Given the description of an element on the screen output the (x, y) to click on. 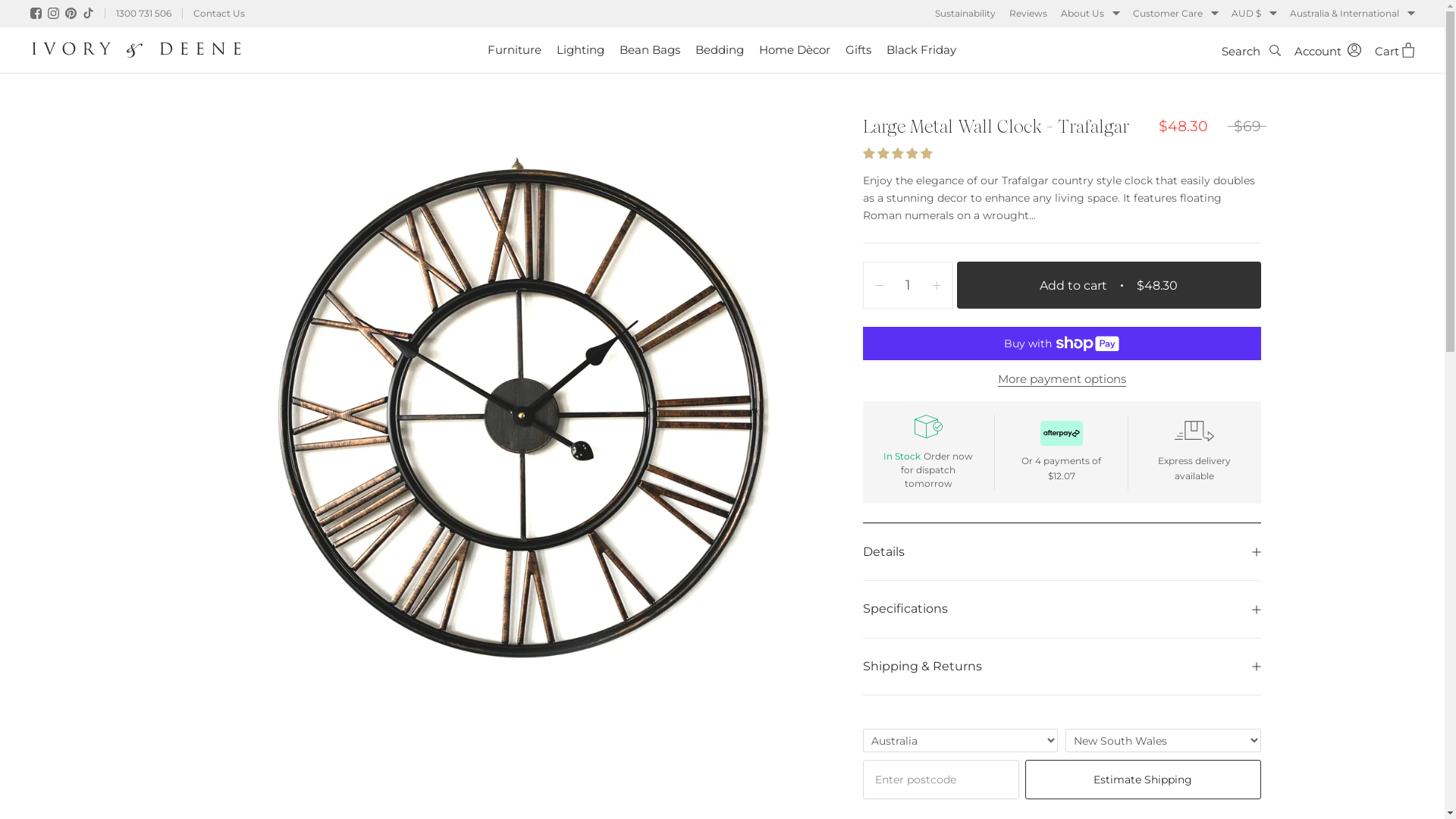
About Us Element type: text (1089, 13)
Black Friday Element type: text (921, 49)
Account Element type: text (1327, 49)
Furniture
Furniture Element type: text (514, 49)
Shipping & Returns Element type: text (1061, 666)
Lighting
Lighting Element type: text (580, 49)
More payment options Element type: text (1061, 378)
Sustainability Element type: text (965, 12)
Or 4 payments of $12.07 Element type: text (1060, 451)
Gifts Element type: text (858, 49)
Bean Bags
Bean Bags Element type: text (649, 49)
Specifications Element type: text (1061, 608)
Reviews Element type: text (1028, 12)
Search Element type: text (1250, 49)
Customer Care Element type: text (1174, 13)
AUD Element type: text (1262, 53)
Estimate Shipping Element type: text (1142, 779)
Cart Element type: text (1394, 49)
Contact Us Element type: text (218, 12)
Australia & International Element type: text (1351, 13)
1300 731 506 Element type: text (143, 12)
Add to cart
$48.30 Element type: text (1109, 284)
Details Element type: text (1061, 552)
AUD $ Element type: text (1253, 13)
NZD Element type: text (1261, 77)
Bedding
Bedding Element type: text (719, 49)
